Given the description of an element on the screen output the (x, y) to click on. 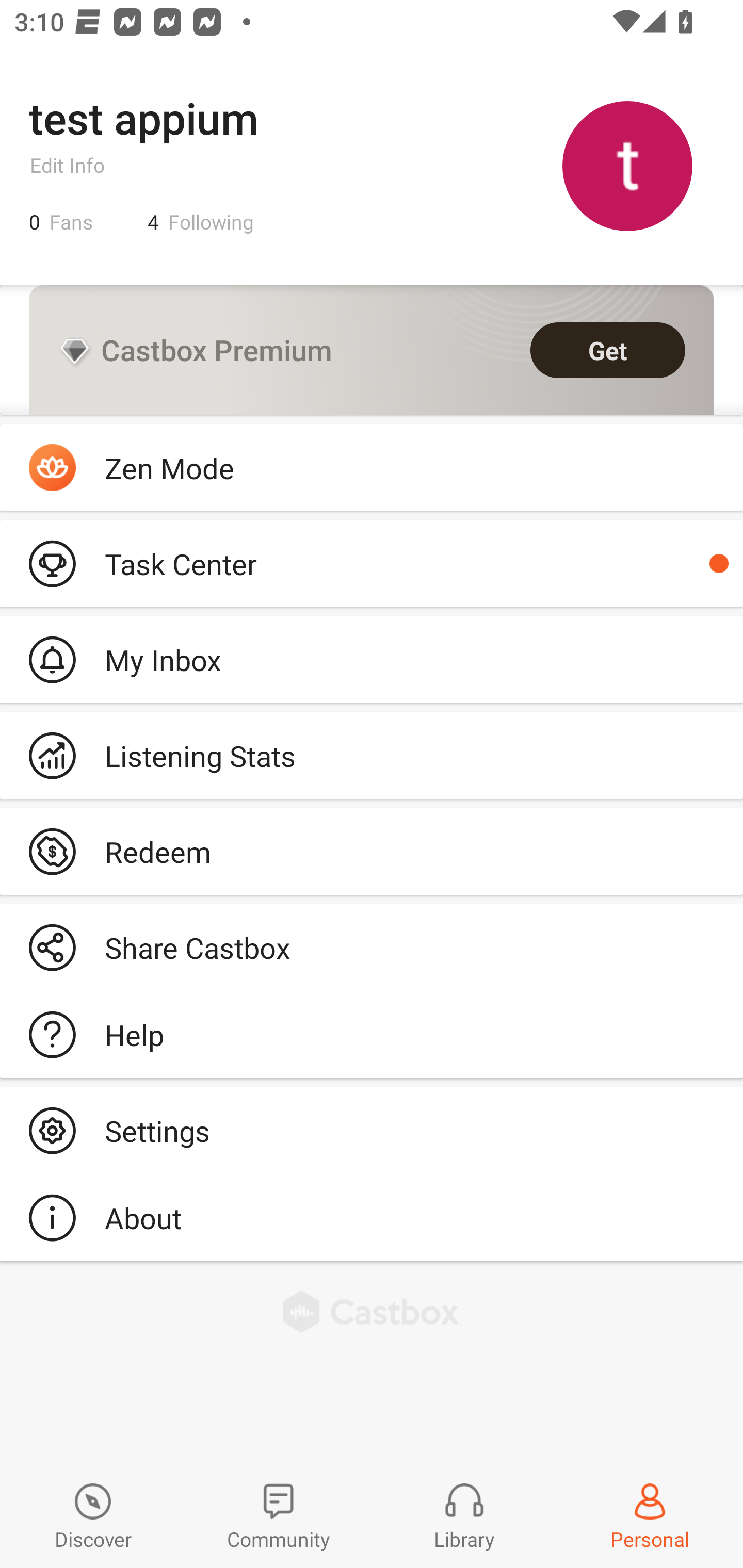
test appium Edit Info 0 Fans 4 Following (371, 165)
0 Fans (60, 221)
4 Following (200, 221)
Castbox Premium Get (371, 350)
Get (607, 350)
Zen Mode (371, 467)
Podcaster  Task Center (371, 563)
 My Inbox (371, 659)
 Listening Stats (371, 755)
 Redeem (371, 851)
 Share Castbox (371, 947)
 Help (371, 1034)
 Settings (371, 1130)
 About (371, 1217)
Discover (92, 1517)
Community (278, 1517)
Library (464, 1517)
Profiles and Settings Personal (650, 1517)
